Given the description of an element on the screen output the (x, y) to click on. 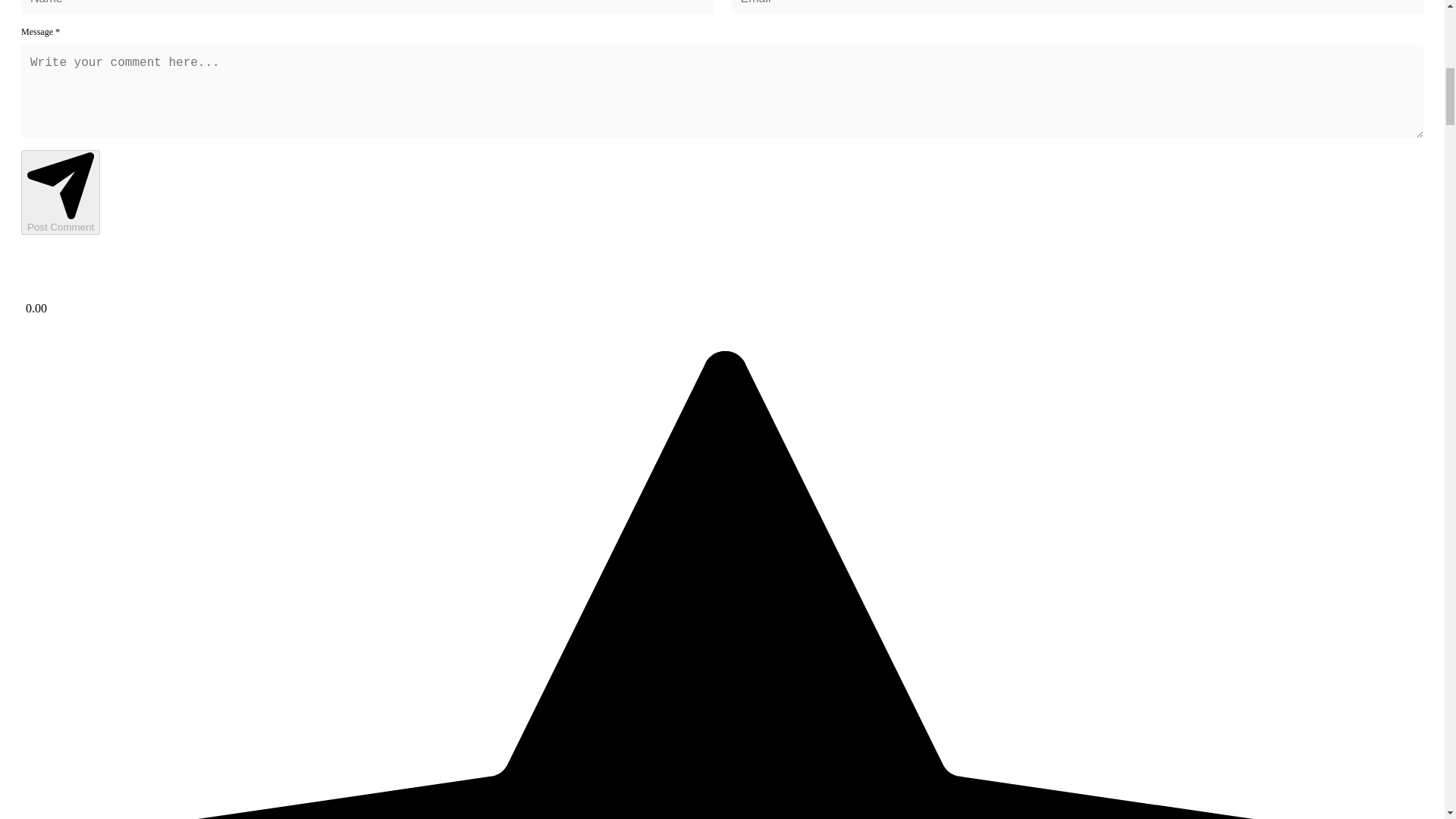
Post Comment (60, 192)
